Given the description of an element on the screen output the (x, y) to click on. 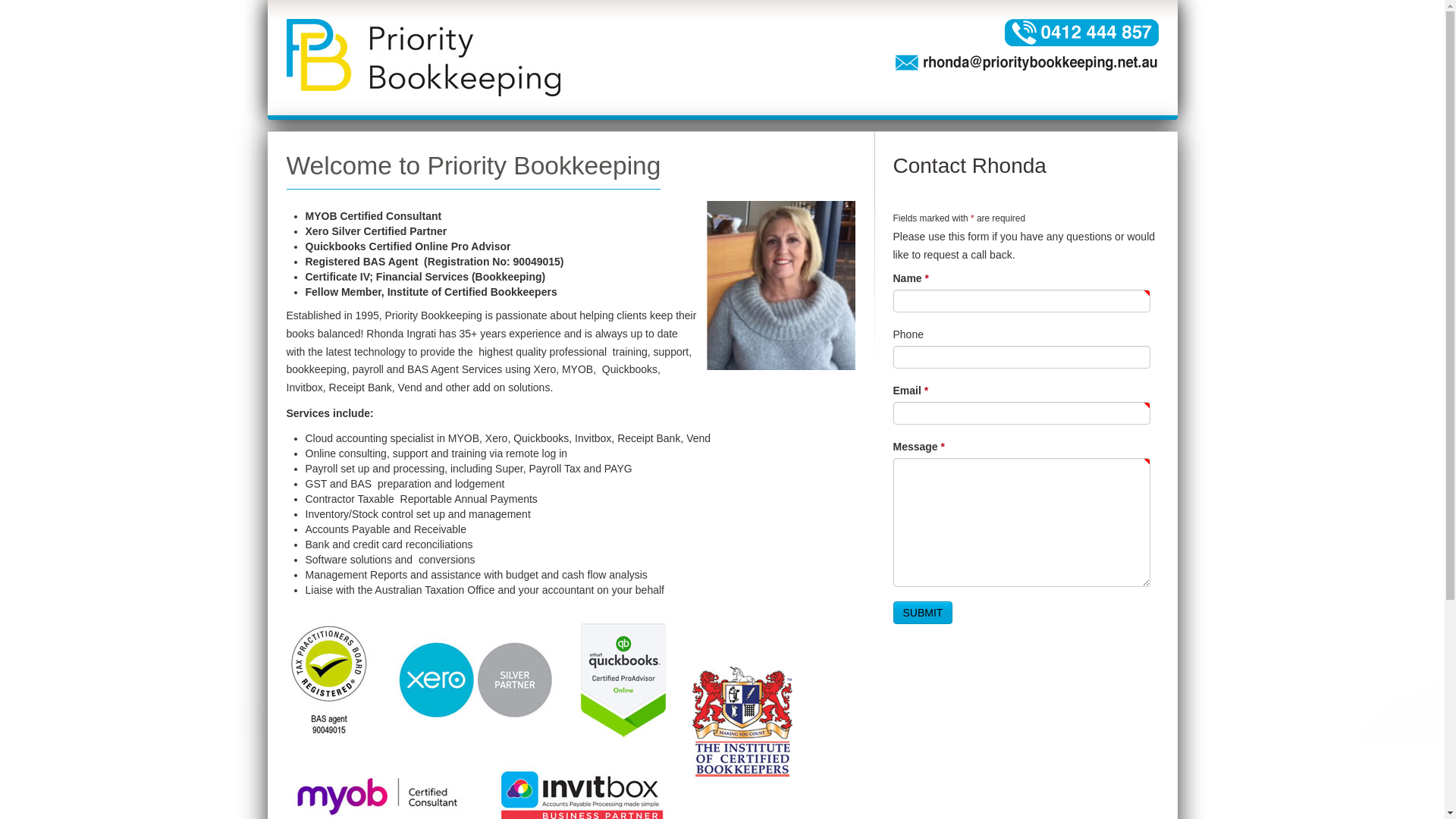
Welcome to Priority Bookkeeping Element type: text (473, 165)
SUBMIT Element type: text (923, 612)
